Given the description of an element on the screen output the (x, y) to click on. 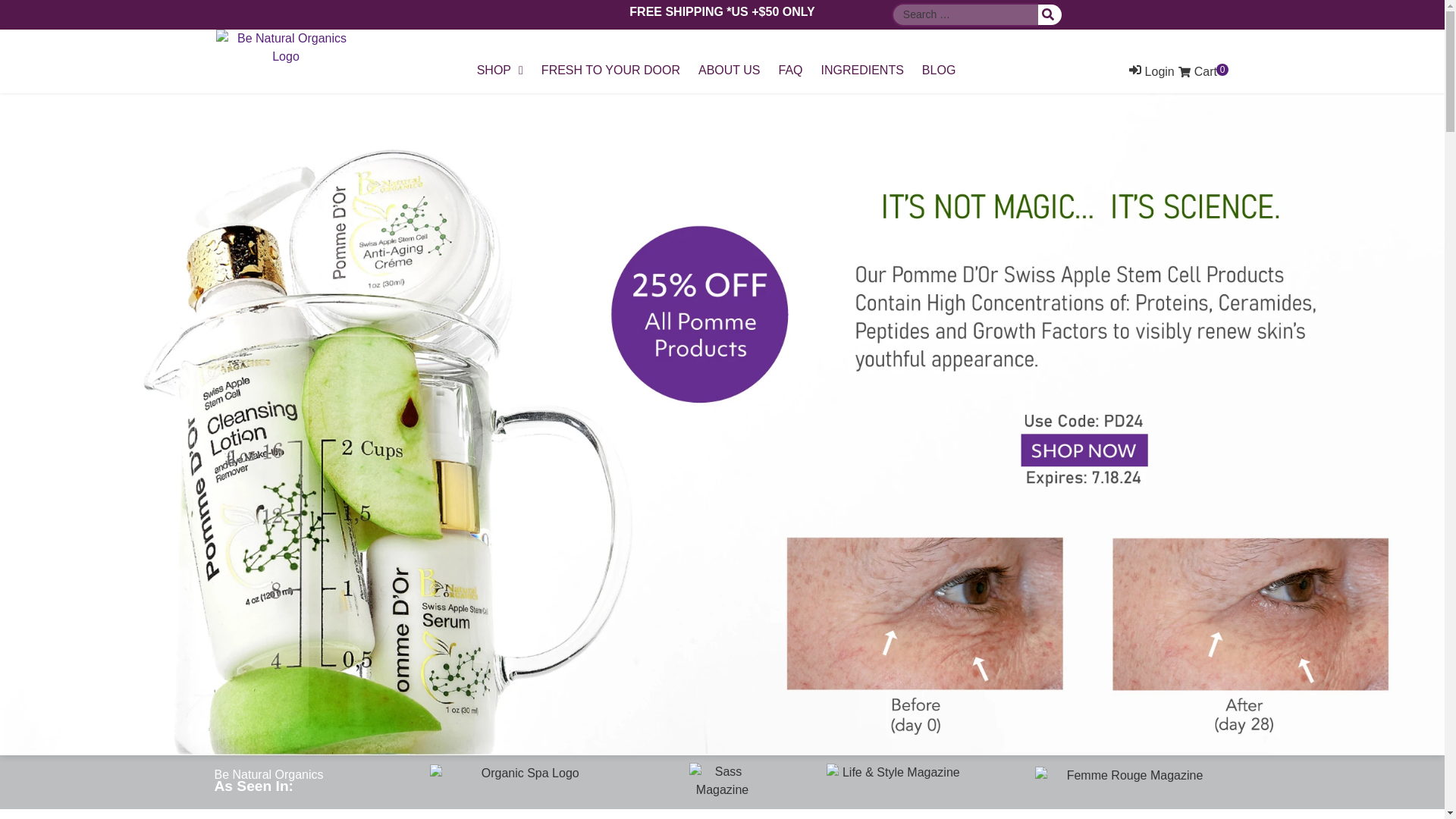
Home (895, 781)
Home (1128, 781)
View your shopping cart (1202, 72)
SHOP (499, 71)
Home (523, 782)
Home (721, 781)
